Given the description of an element on the screen output the (x, y) to click on. 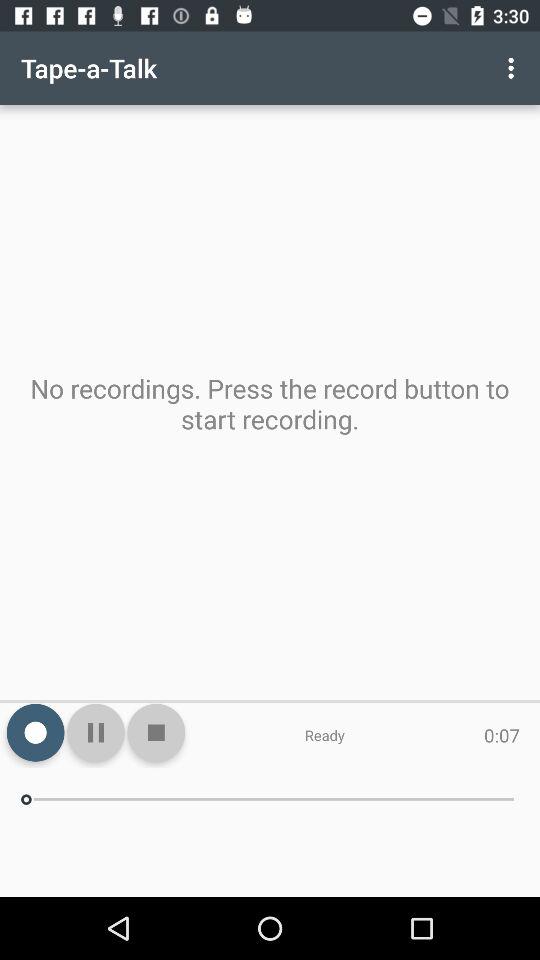
press item to the right of tape-a-talk icon (513, 67)
